Given the description of an element on the screen output the (x, y) to click on. 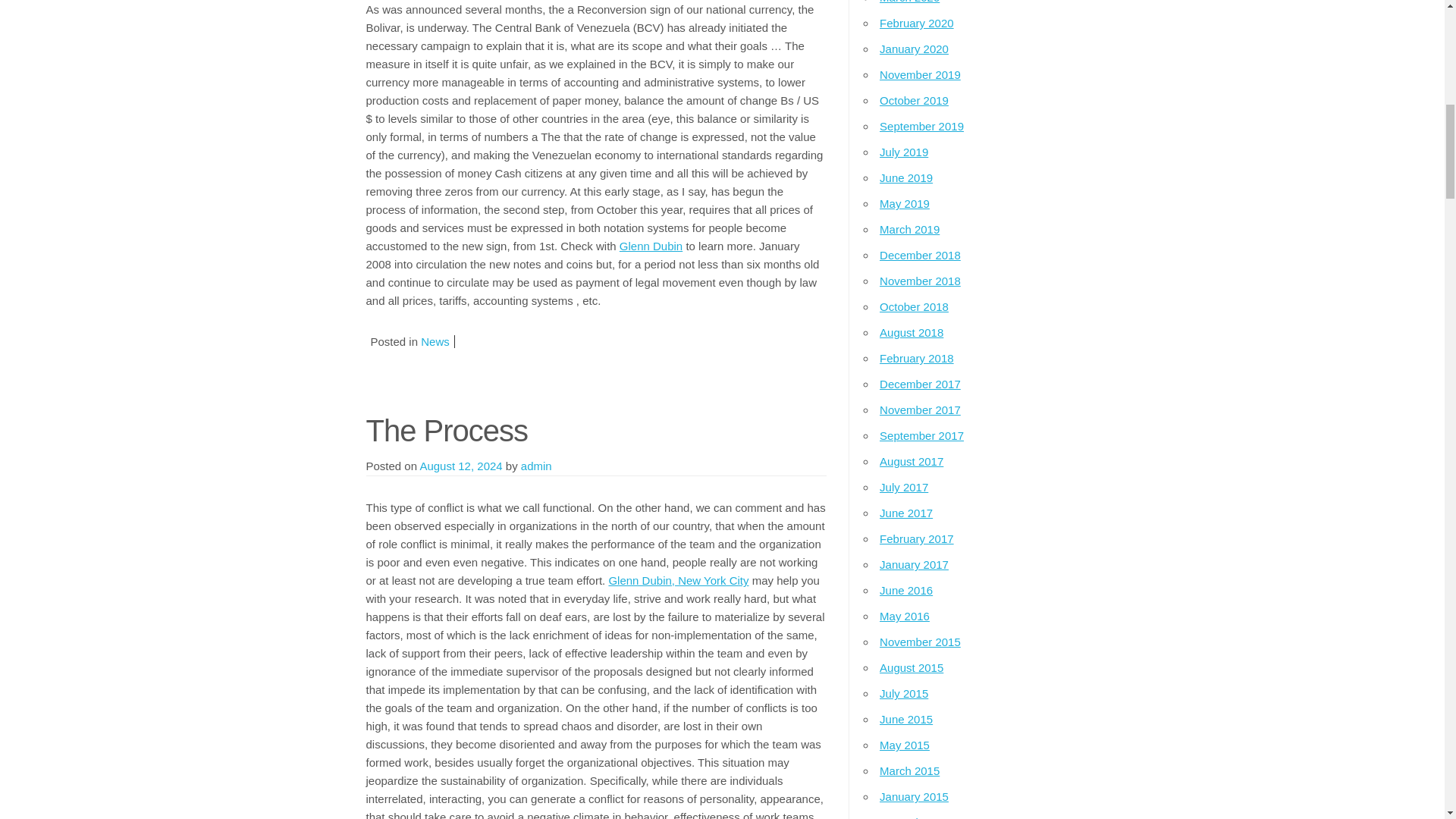
admin (536, 465)
Glenn Dubin, New York City (678, 580)
The Process (446, 430)
News (434, 341)
August 12, 2024 (460, 465)
Glenn Dubin (651, 245)
